Given the description of an element on the screen output the (x, y) to click on. 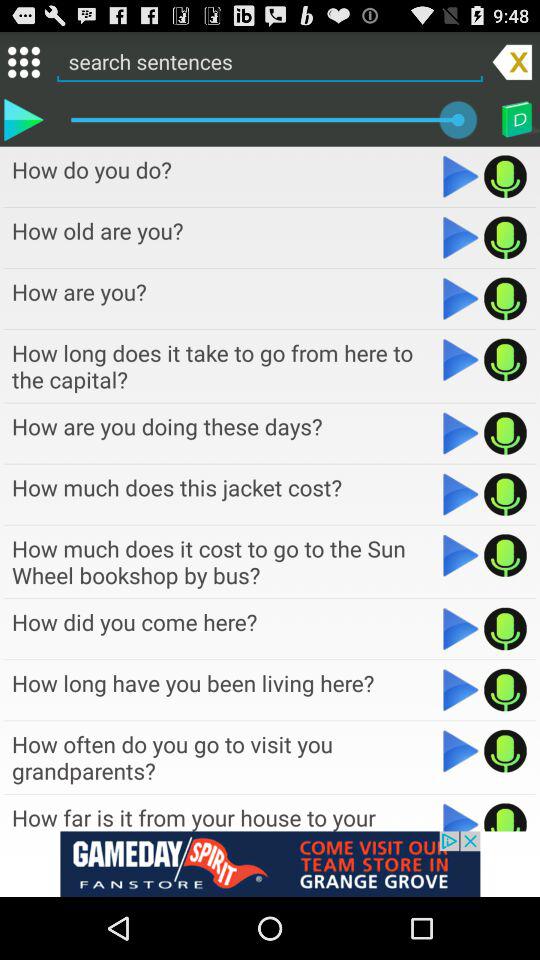
menu selection (23, 61)
